Given the description of an element on the screen output the (x, y) to click on. 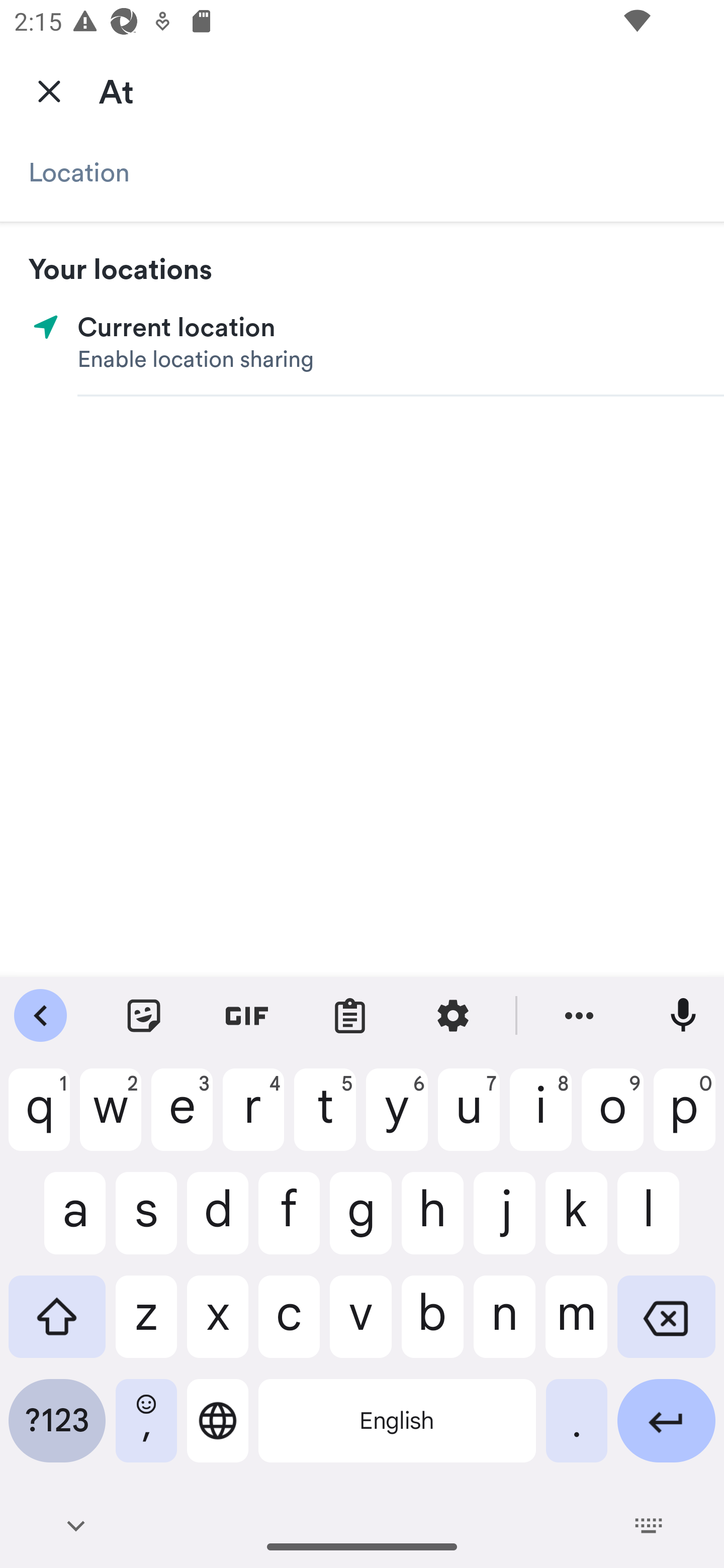
Navigate up (49, 90)
Current location Enable location sharing (362, 342)
